Given the description of an element on the screen output the (x, y) to click on. 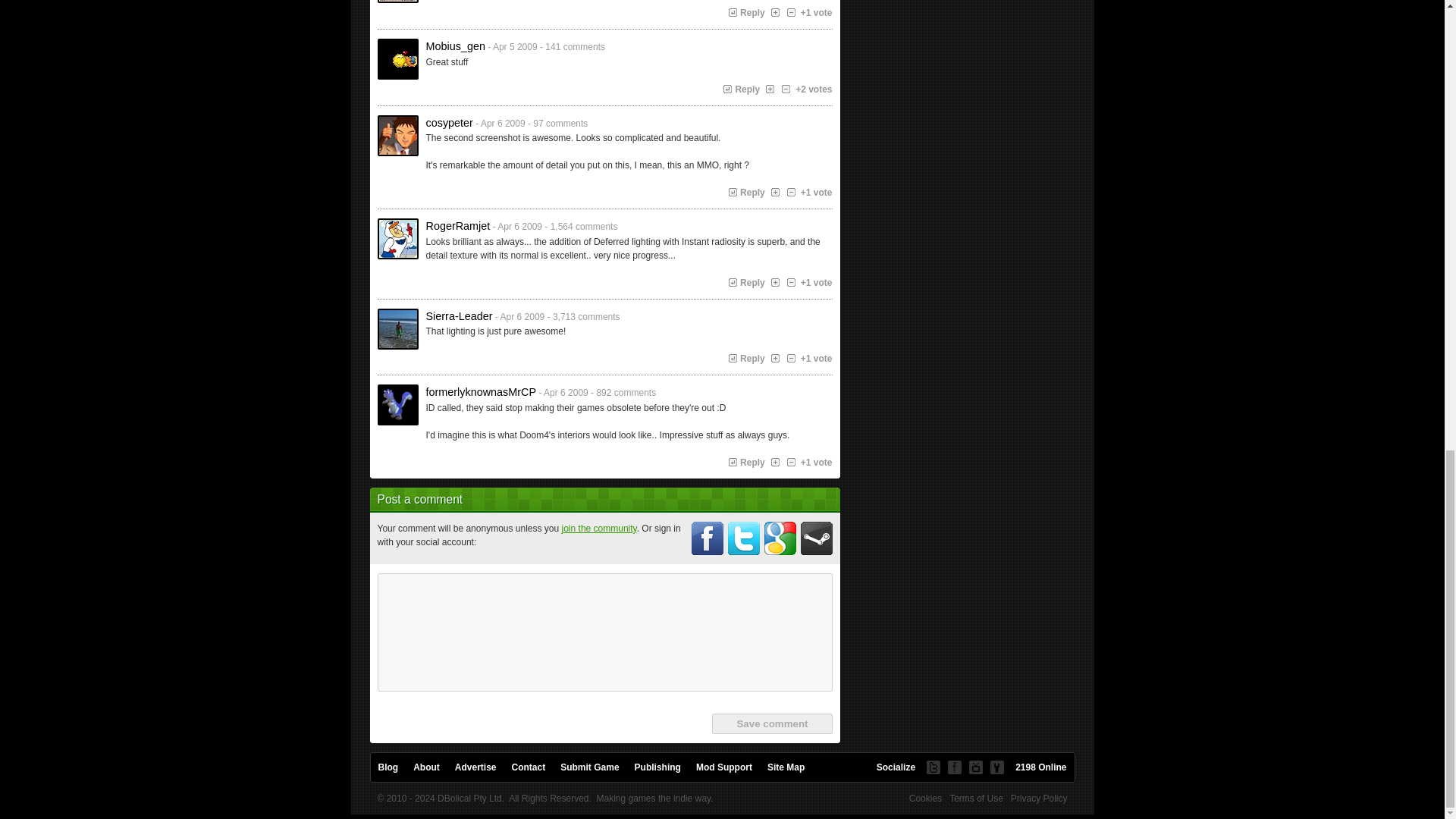
Save comment (771, 723)
